Given the description of an element on the screen output the (x, y) to click on. 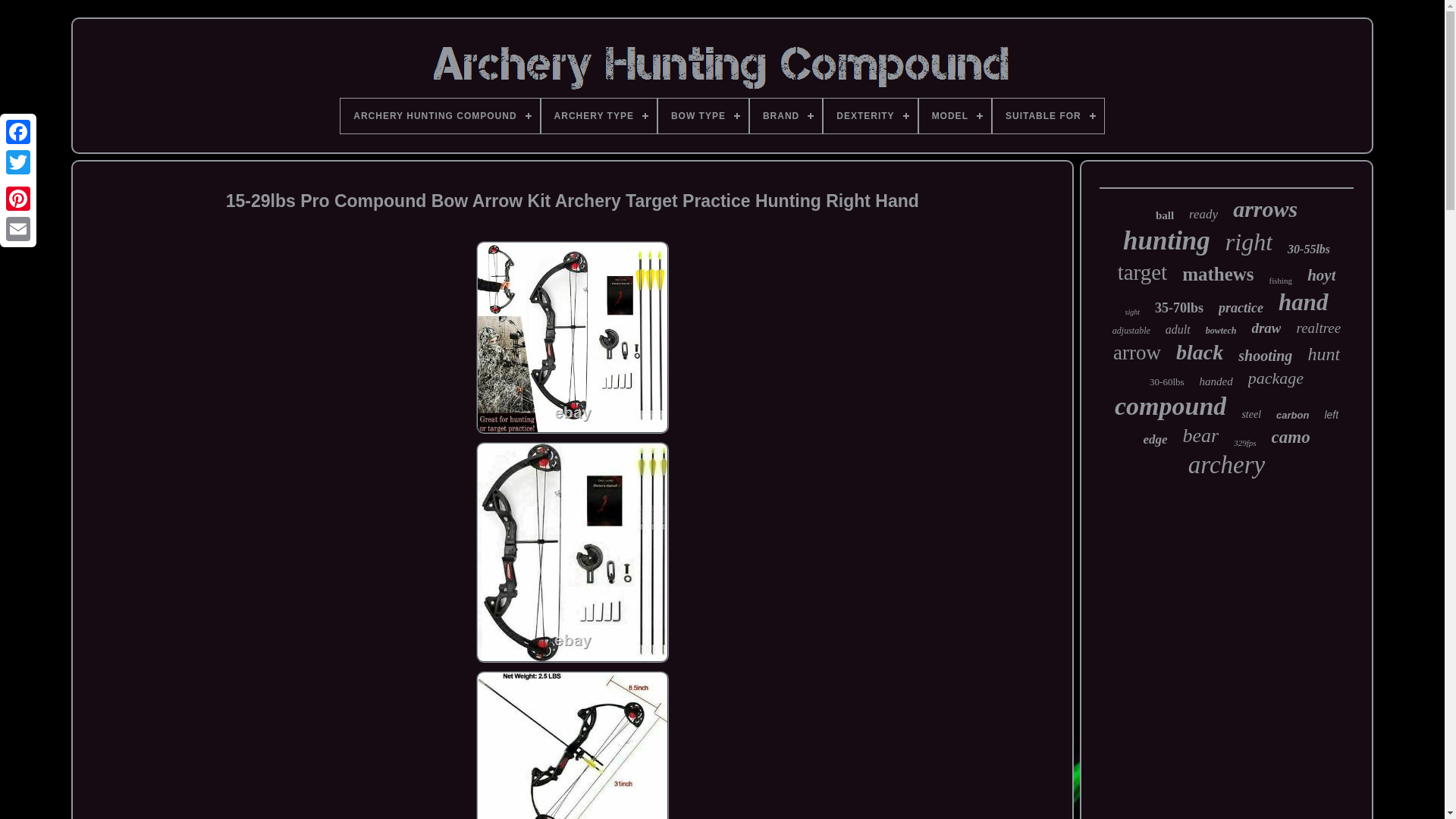
BOW TYPE (703, 115)
BRAND (785, 115)
ARCHERY HUNTING COMPOUND (439, 115)
ARCHERY TYPE (598, 115)
Pinterest (17, 198)
